Given the description of an element on the screen output the (x, y) to click on. 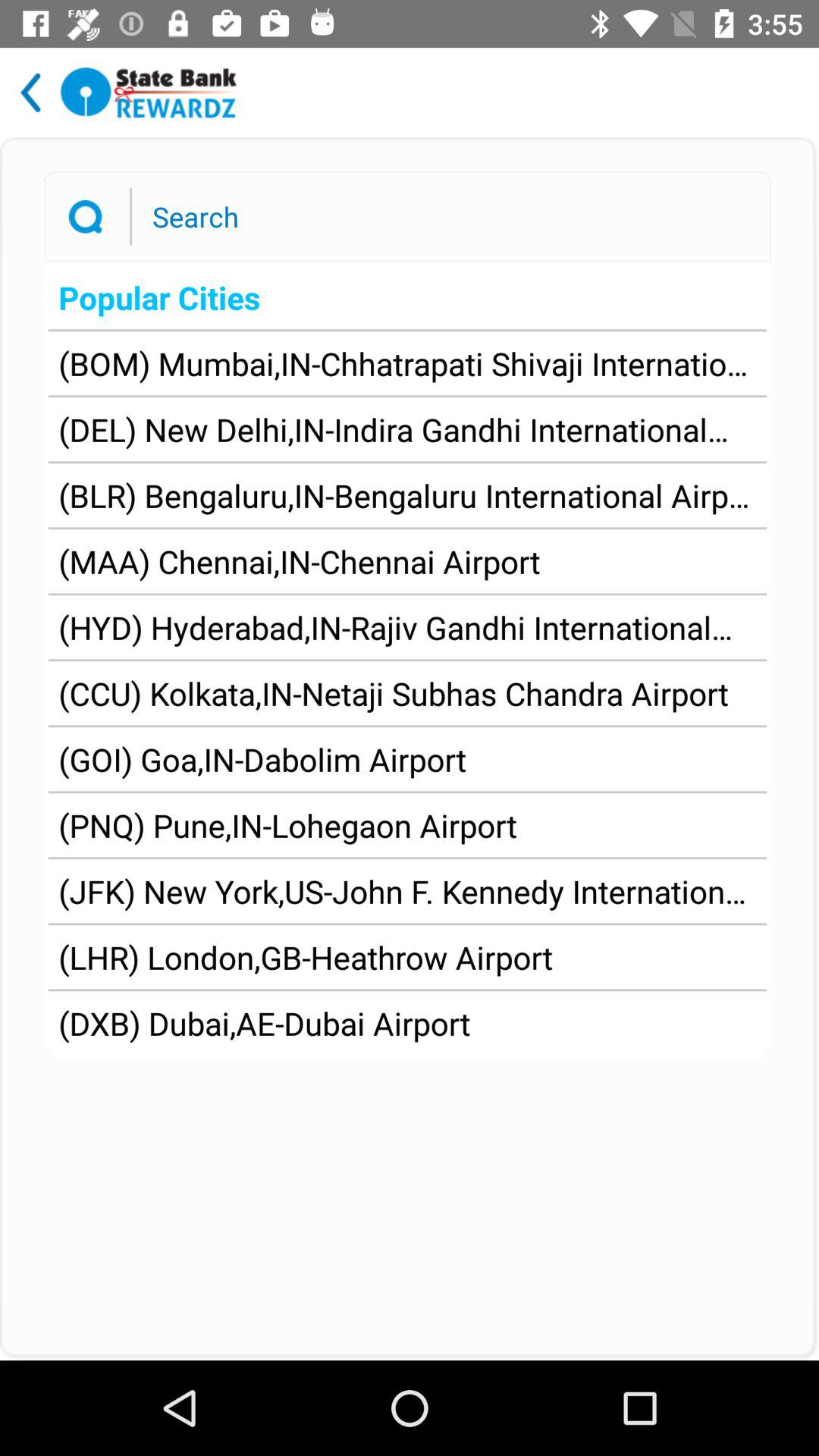
click the bom mumbai in app (407, 363)
